Given the description of an element on the screen output the (x, y) to click on. 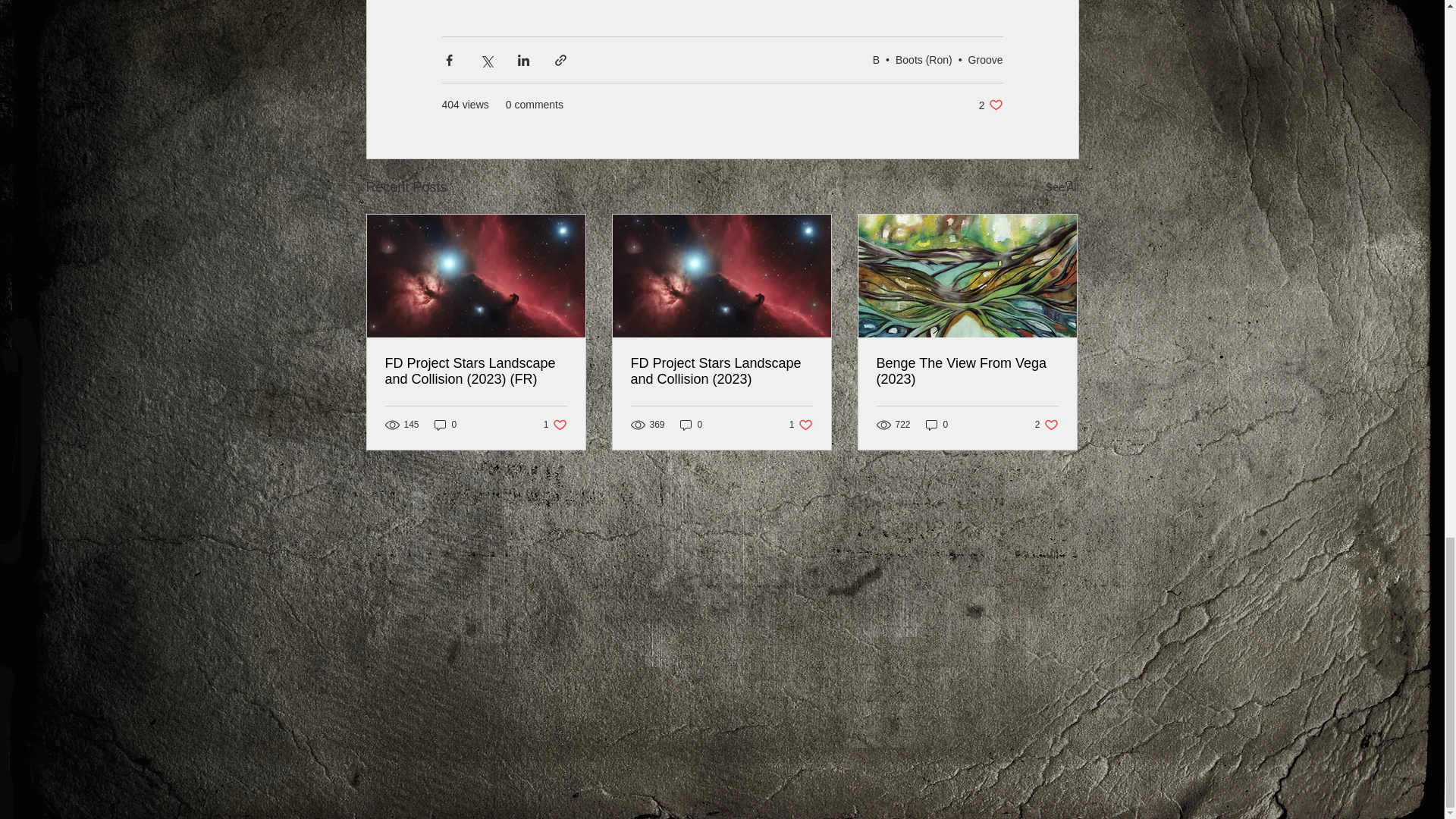
Groove (985, 60)
See All (990, 104)
